Given the description of an element on the screen output the (x, y) to click on. 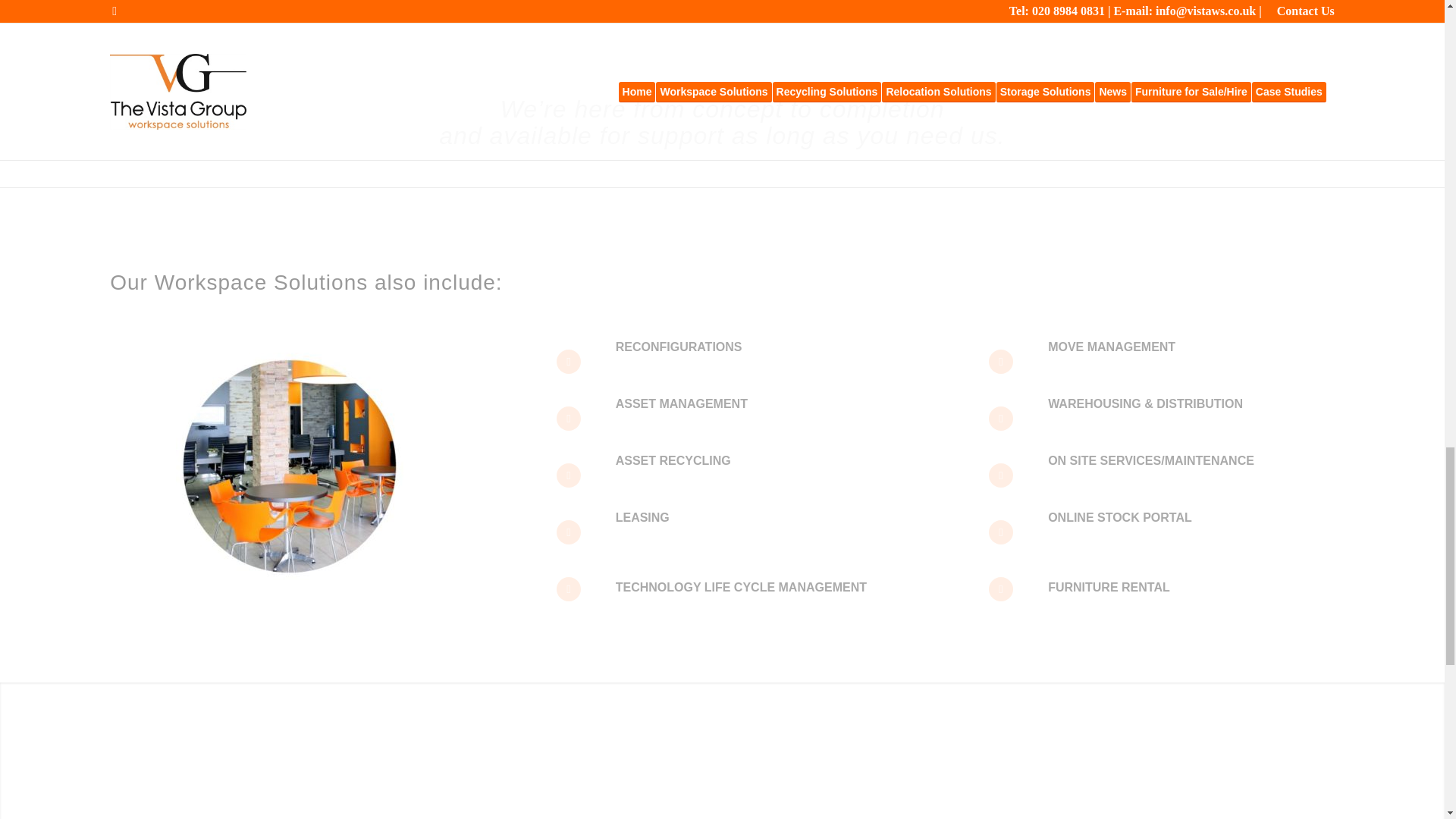
Move Management (1111, 346)
MOVE MANAGEMENT (1111, 346)
Workspace-Services (289, 465)
